Given the description of an element on the screen output the (x, y) to click on. 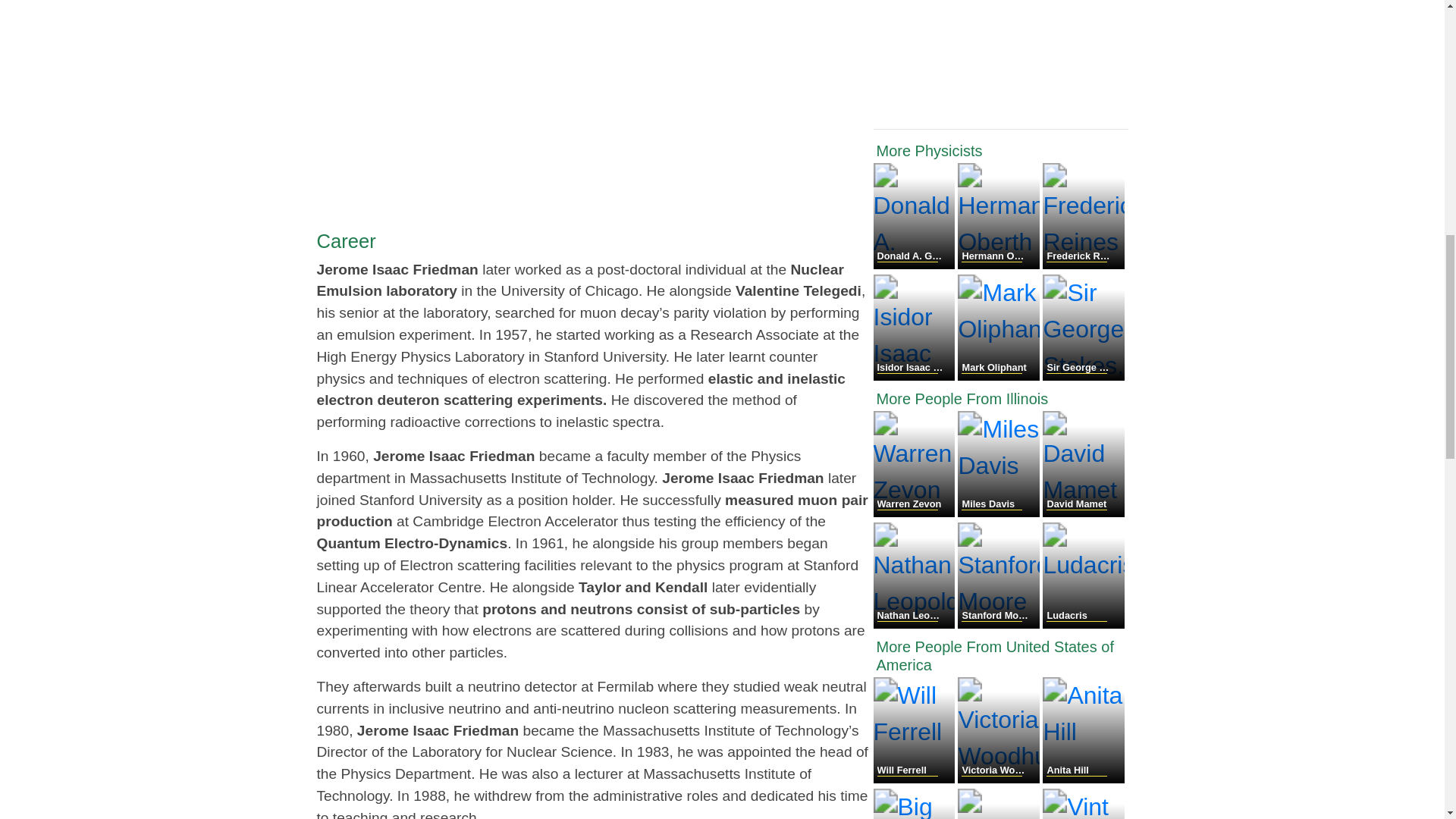
Miles Davis (1000, 512)
Nathan Leopold (915, 624)
Mark Oliphant (1000, 376)
Anita Hill (1083, 779)
Ludacris (1083, 624)
More People From Illinois (1000, 398)
More Physicists (1000, 150)
Isidor Isaac Rabi (915, 376)
David Mamet (1083, 512)
Warren Zevon (915, 512)
